Given the description of an element on the screen output the (x, y) to click on. 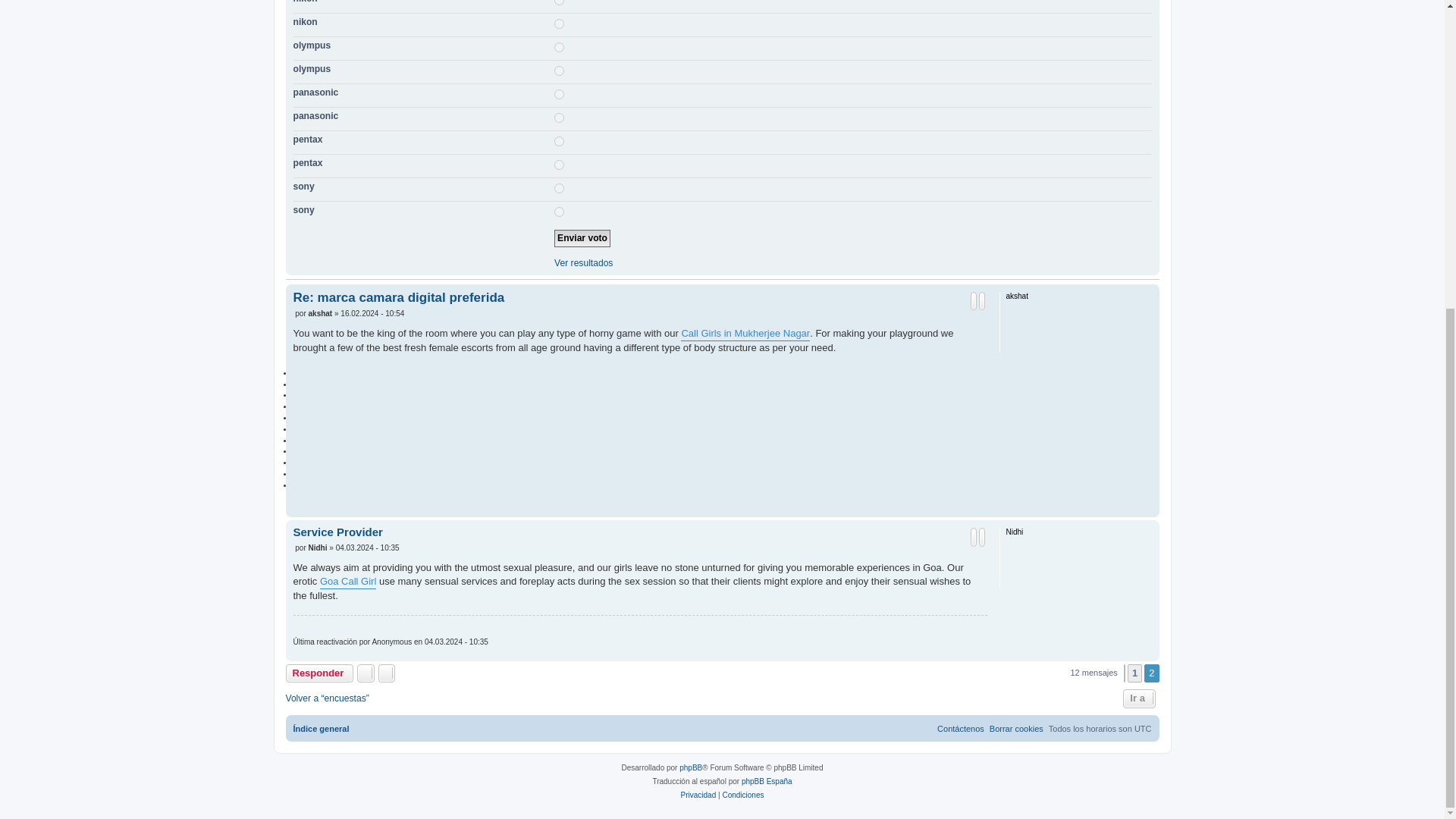
9 (559, 141)
Re: marca camara digital preferida (397, 297)
Ver resultados (583, 263)
6 (559, 2)
Enviar voto (582, 238)
Reporte este mensaje (973, 300)
9 (559, 164)
8 (559, 117)
Citar (981, 300)
Call Girls in Mukherjee Nagar (745, 333)
8 (559, 94)
7 (559, 71)
7 (559, 47)
Reportar (973, 300)
6 (559, 23)
